Given the description of an element on the screen output the (x, y) to click on. 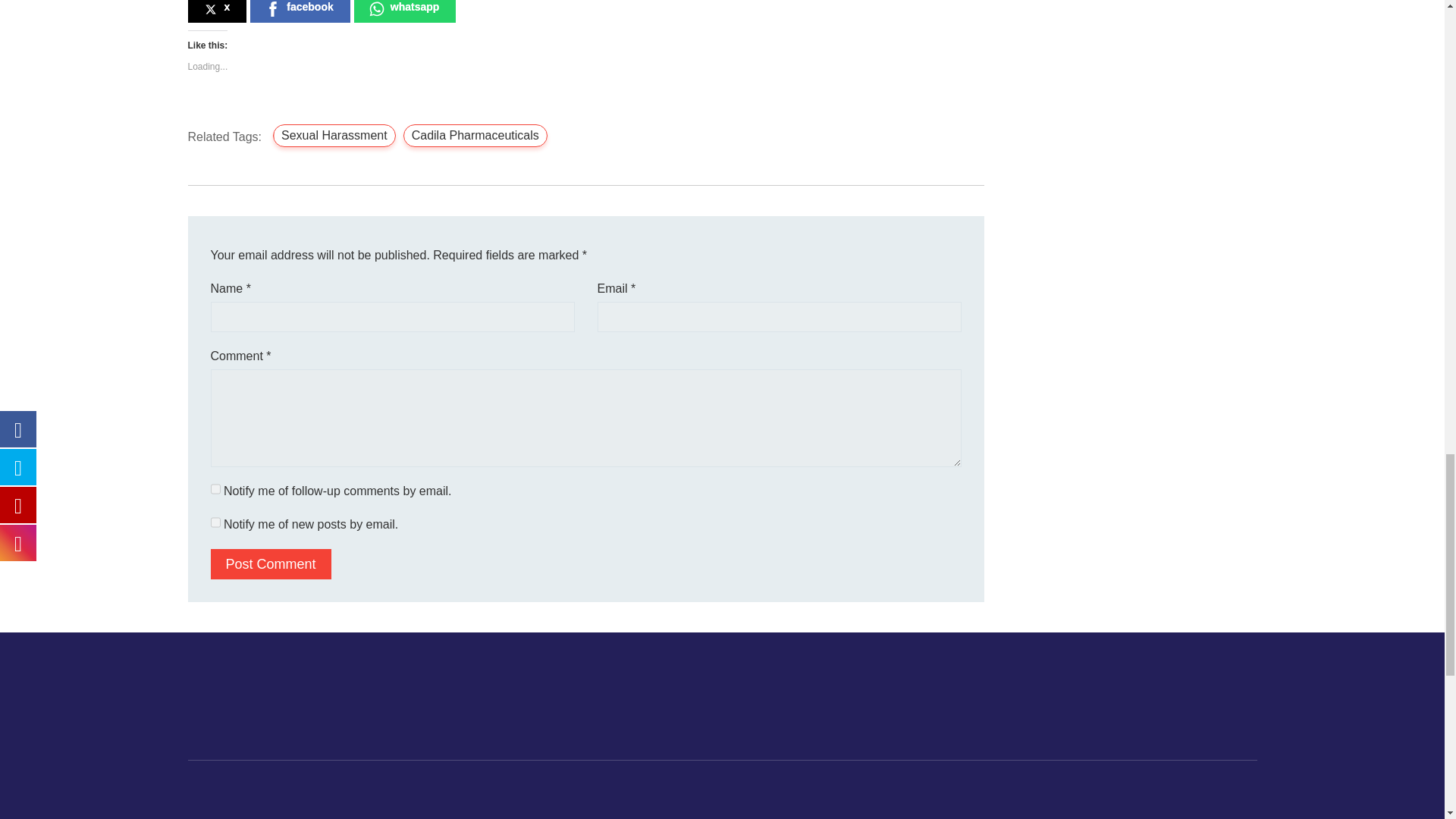
Coronavirus in India (475, 135)
Coronavirus in India (334, 135)
Post Comment (271, 563)
